Given the description of an element on the screen output the (x, y) to click on. 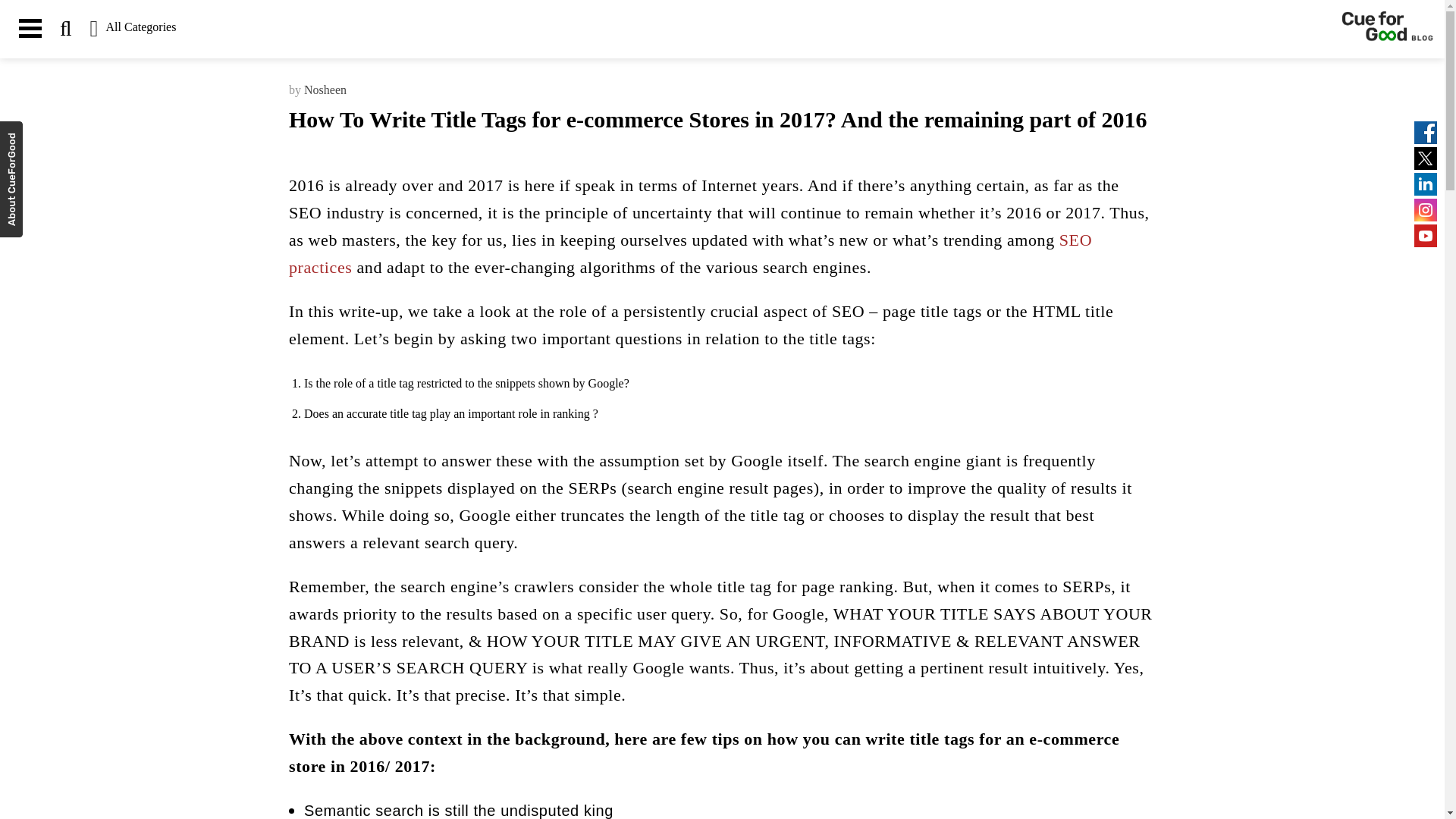
YouTube (1425, 235)
LinkedIn (1425, 183)
Twitter (1425, 158)
Nosheen (325, 89)
CueBlog (1387, 28)
SEO practices (690, 253)
Facebook (1425, 132)
Instagram (1425, 210)
Posts by Nosheen (325, 89)
